Given the description of an element on the screen output the (x, y) to click on. 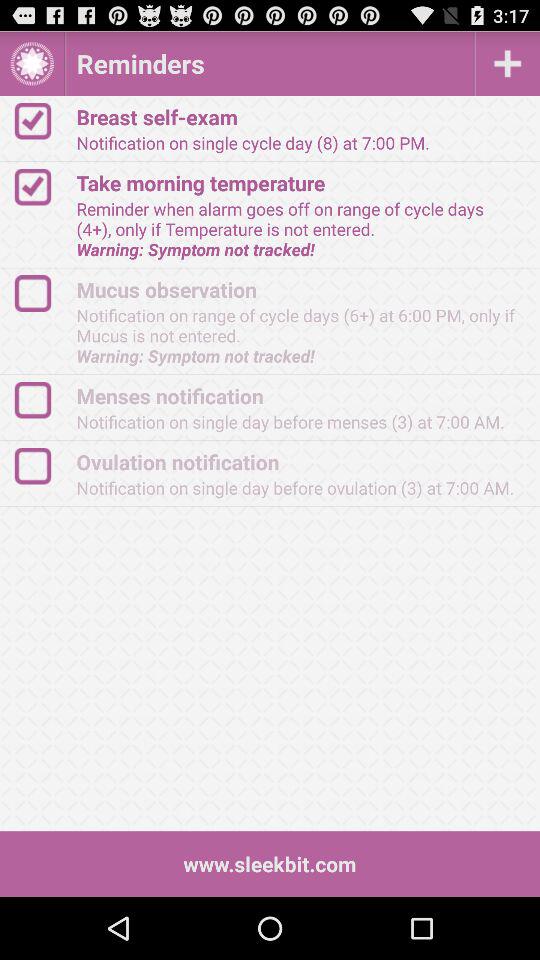
click on second check box which is below the reminders (42, 187)
select the plus symbol (507, 63)
